Given the description of an element on the screen output the (x, y) to click on. 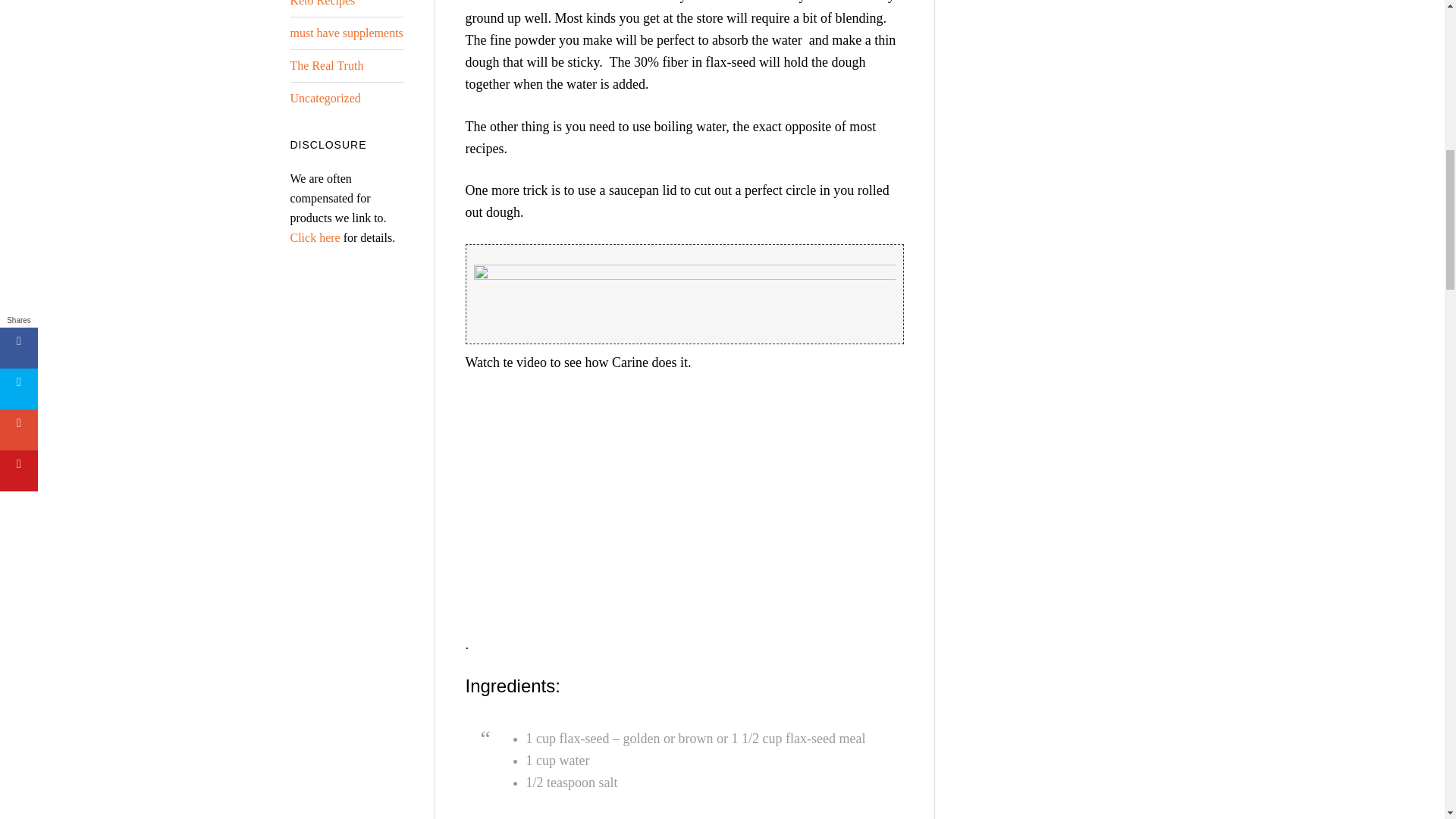
Keto Recipes (322, 3)
must have supplements (346, 32)
The Real Truth (325, 65)
